Given the description of an element on the screen output the (x, y) to click on. 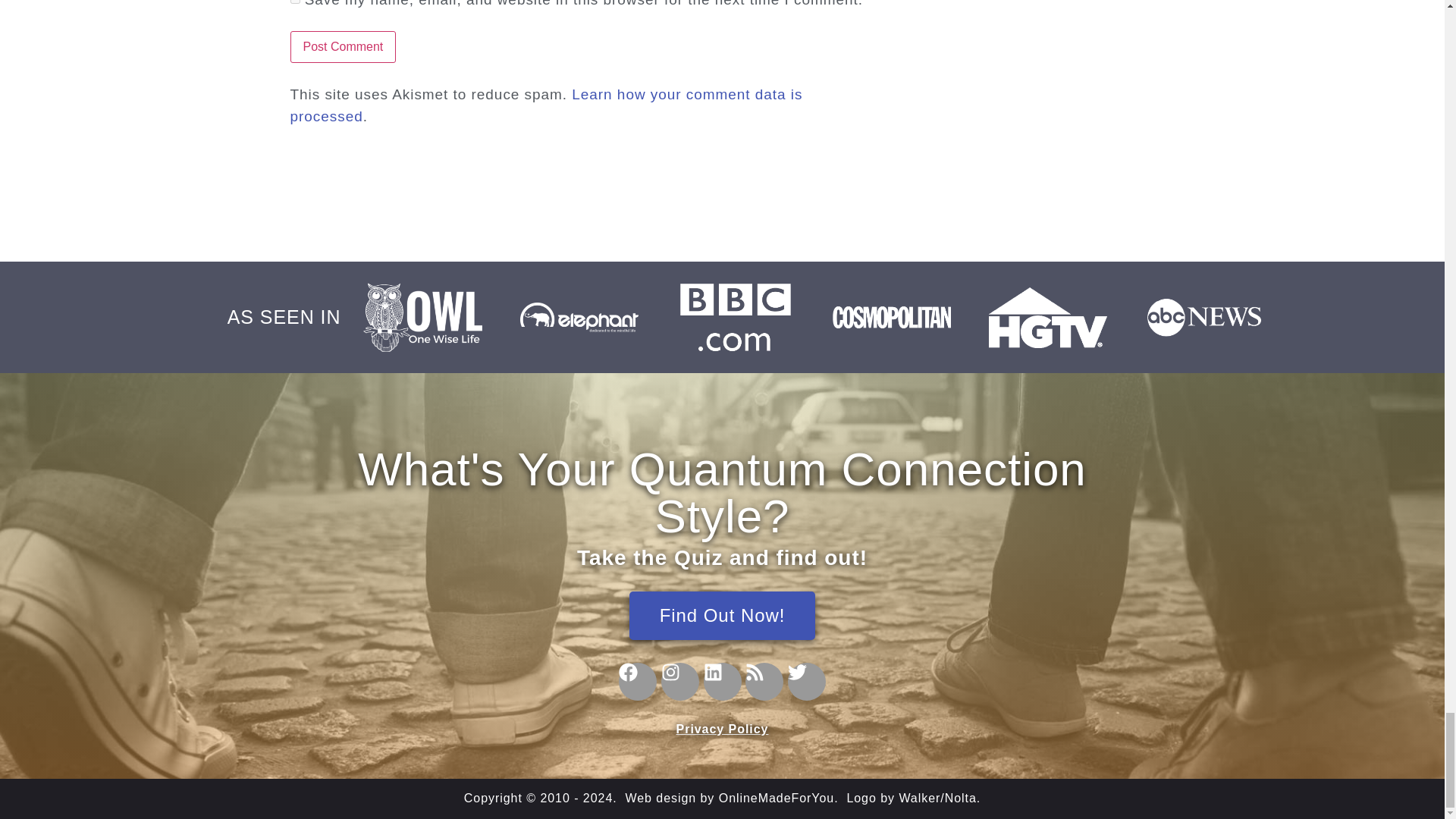
Post Comment (342, 47)
yes (294, 2)
